Given the description of an element on the screen output the (x, y) to click on. 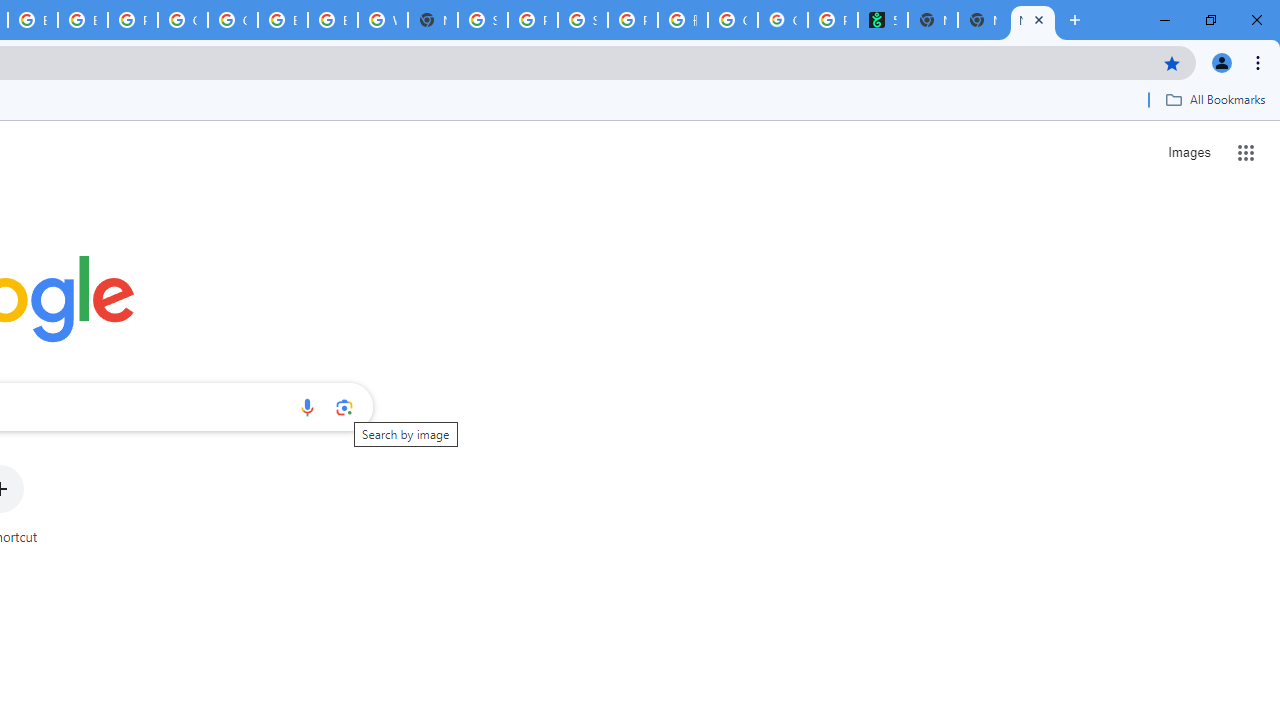
New Tab (433, 20)
Google Cloud Platform (232, 20)
Search by voice (307, 407)
Search for Images  (1188, 152)
Google apps (1245, 152)
Browse Chrome as a guest - Computer - Google Chrome Help (333, 20)
